Given the description of an element on the screen output the (x, y) to click on. 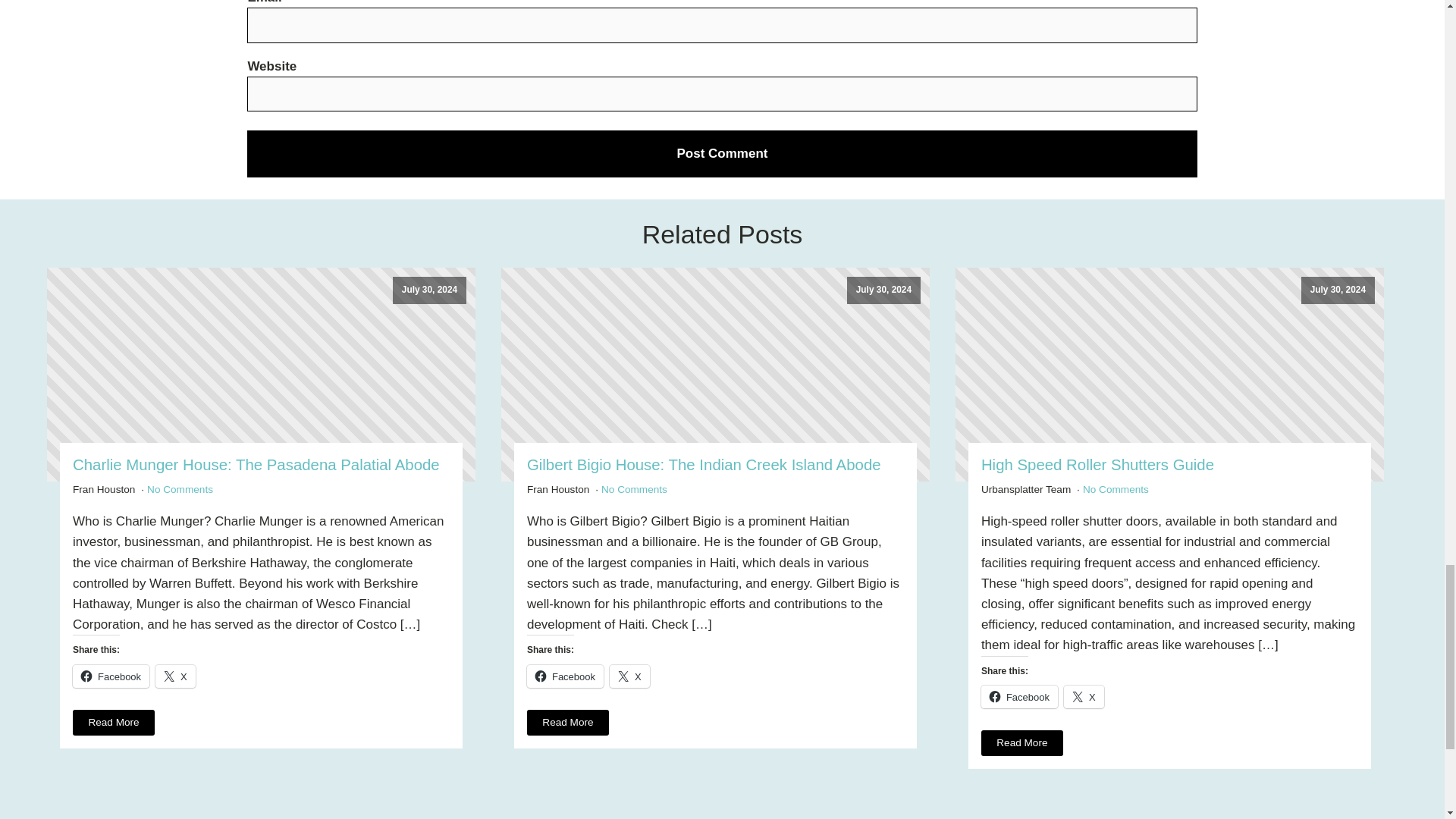
Click to share on X (1083, 696)
Post Comment (721, 153)
Click to share on X (629, 676)
Click to share on Facebook (110, 676)
Click to share on X (175, 676)
Click to share on Facebook (565, 676)
Click to share on Facebook (1019, 696)
